Given the description of an element on the screen output the (x, y) to click on. 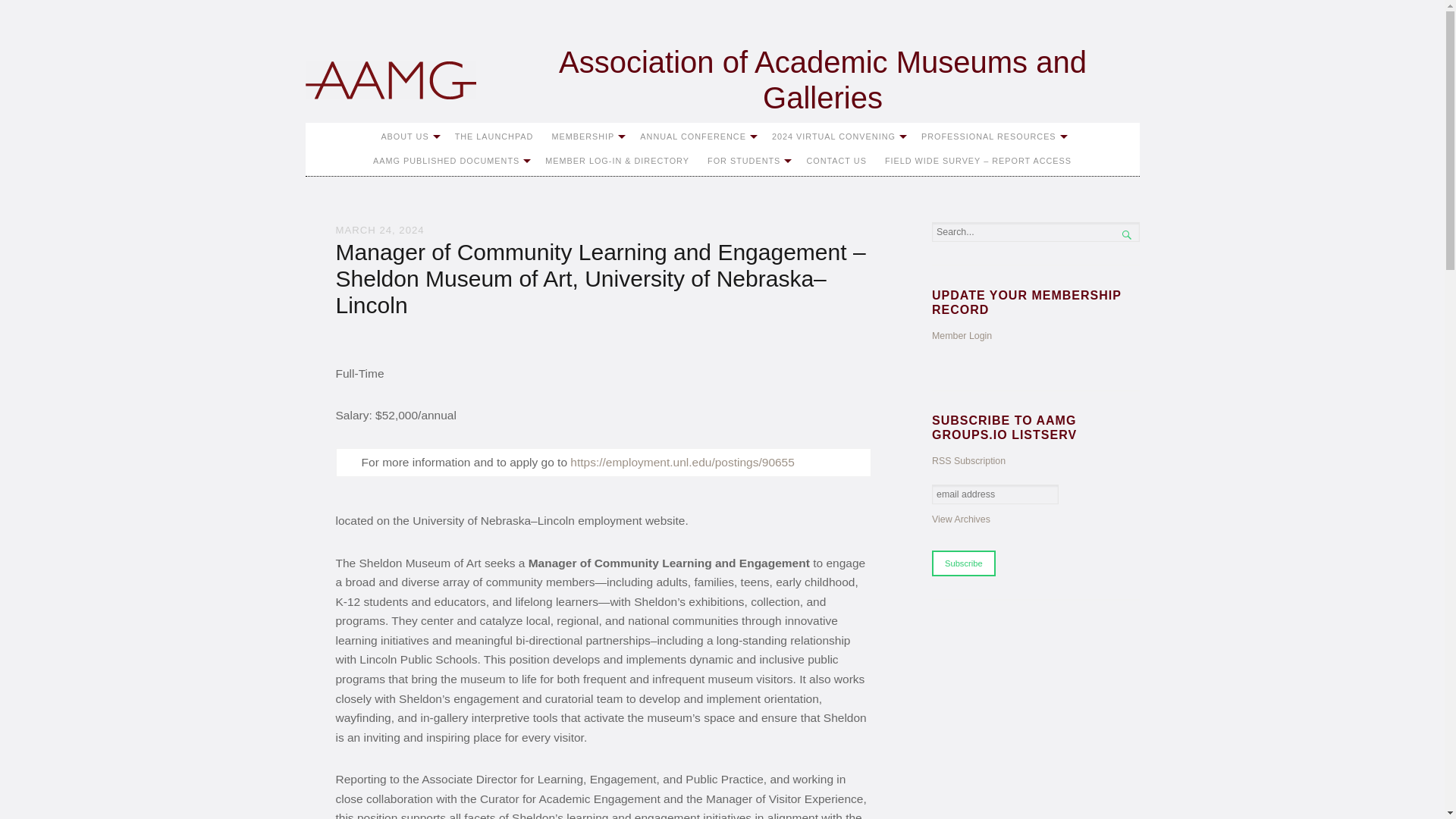
Association of Academic Museums and Galleries (721, 80)
Subscribe (963, 563)
Member Login (961, 335)
MEMBERSHIP (585, 137)
ABOUT US (408, 137)
Home (721, 80)
ANNUAL CONFERENCE (696, 137)
Home (390, 80)
THE LAUNCHPAD (493, 137)
